Given the description of an element on the screen output the (x, y) to click on. 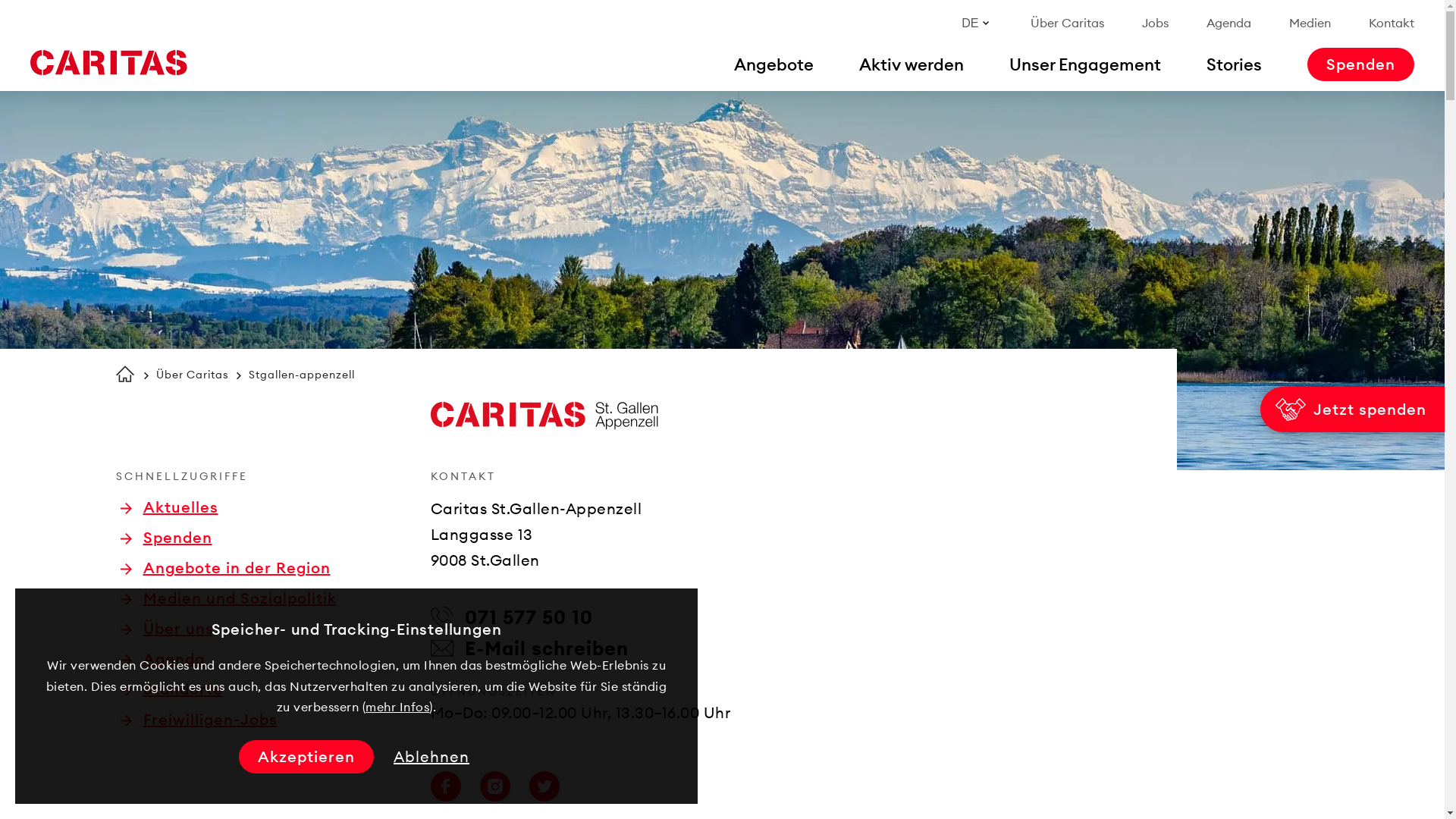
twitter Element type: text (544, 786)
Agenda Element type: text (1228, 22)
Angebote Element type: text (773, 64)
Startseite Element type: text (124, 373)
Angebote in der Region Element type: text (224, 567)
Open sub menu Element type: text (18, 18)
facebook Element type: text (445, 786)
Startseite Element type: text (108, 62)
Unser Engagement Element type: text (1085, 64)
Standorte Element type: text (170, 689)
mehr Infos Element type: text (397, 706)
Medien und Sozialpolitik Element type: text (227, 598)
Akzeptieren Element type: text (305, 756)
Jobs Element type: text (1155, 22)
Stories Element type: text (1233, 64)
Kontakt Element type: text (1391, 22)
Ablehnen Element type: text (431, 756)
Aktiv werden Element type: text (911, 64)
Medien Element type: text (1309, 22)
instagram Element type: text (494, 786)
Agenda Element type: text (161, 658)
Aktuelles Element type: text (168, 507)
Spenden Element type: text (165, 537)
Freiwilligen-Jobs Element type: text (198, 719)
